Given the description of an element on the screen output the (x, y) to click on. 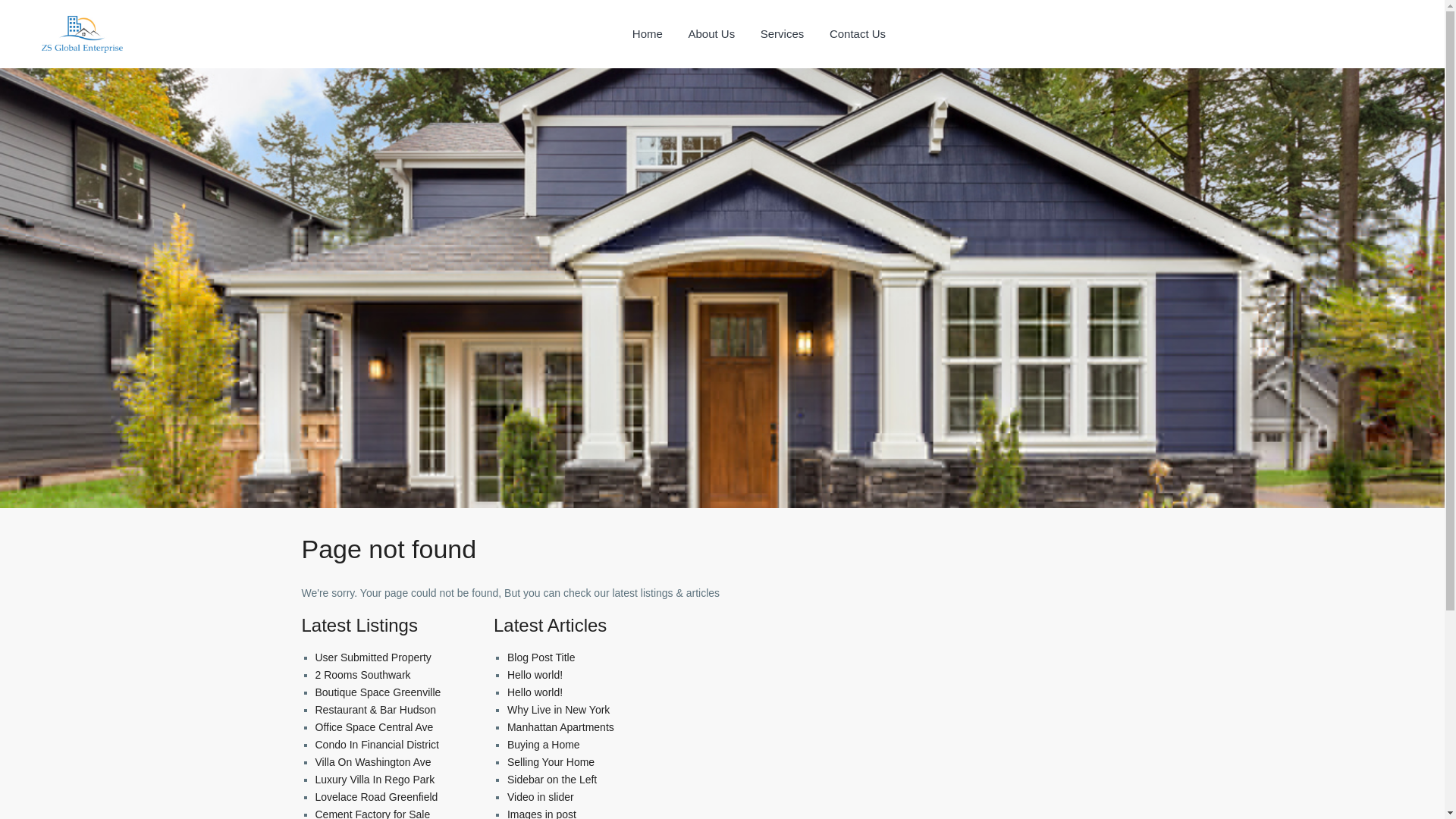
Condo In Financial District (377, 744)
Sidebar on the Left (551, 779)
Boutique Space Greenville (378, 692)
Video in slider (539, 797)
Luxury Villa In Rego Park (375, 779)
Hello world! (534, 692)
User Submitted Property (372, 657)
Hello world! (534, 674)
Images in post (541, 813)
Contact Us (857, 33)
